Given the description of an element on the screen output the (x, y) to click on. 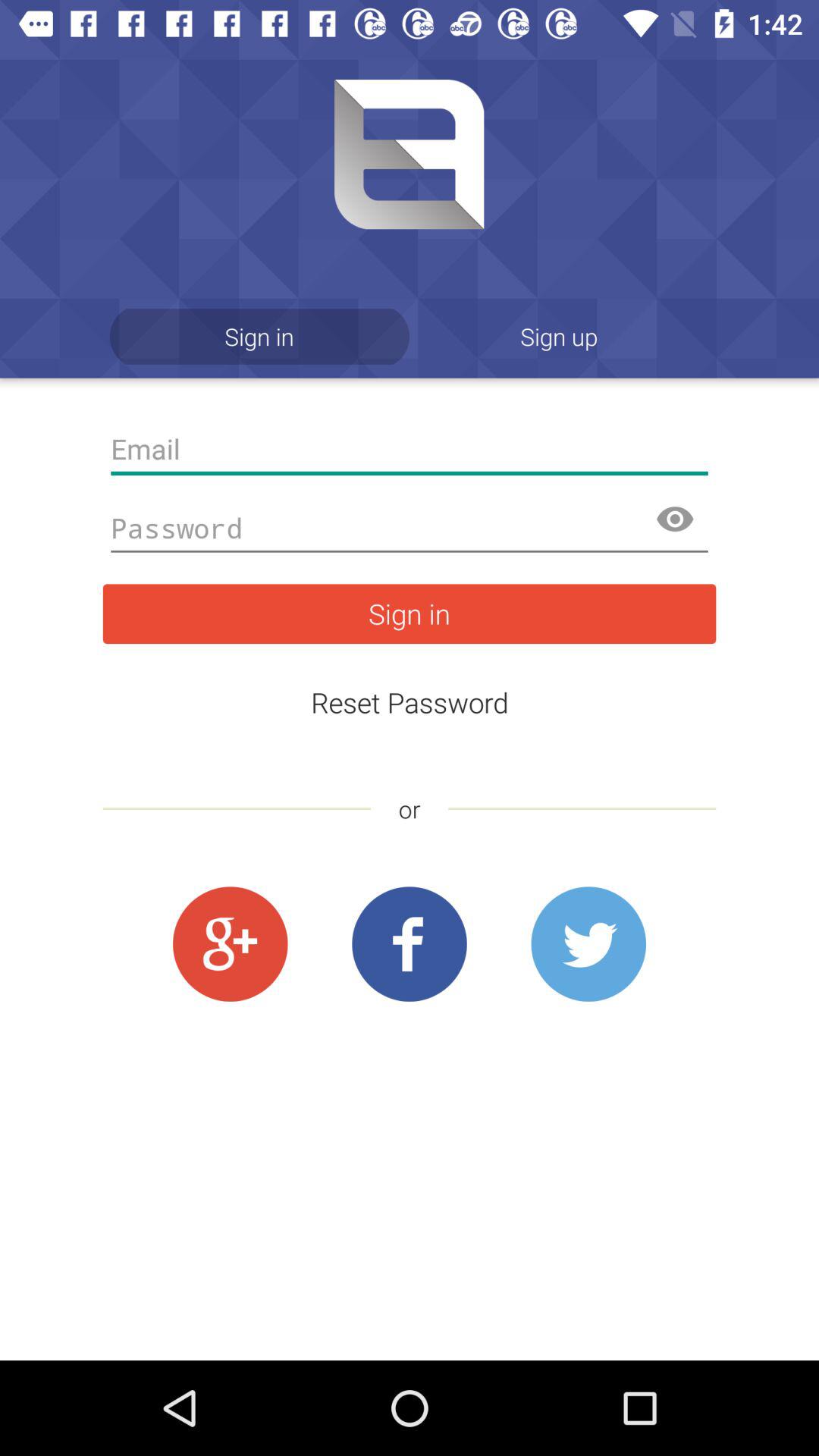
turn off the reset password item (409, 702)
